Given the description of an element on the screen output the (x, y) to click on. 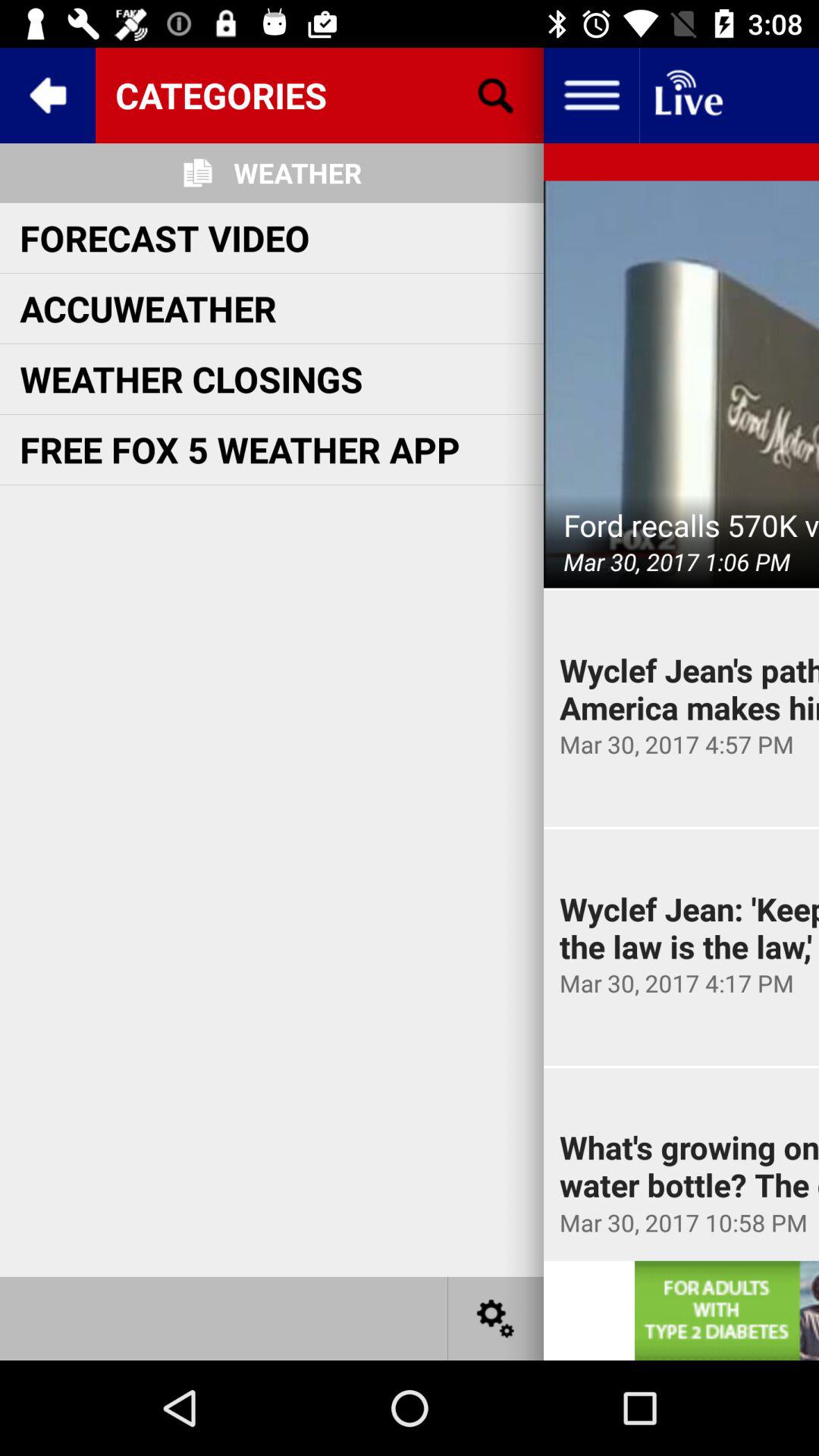
menu (591, 95)
